Given the description of an element on the screen output the (x, y) to click on. 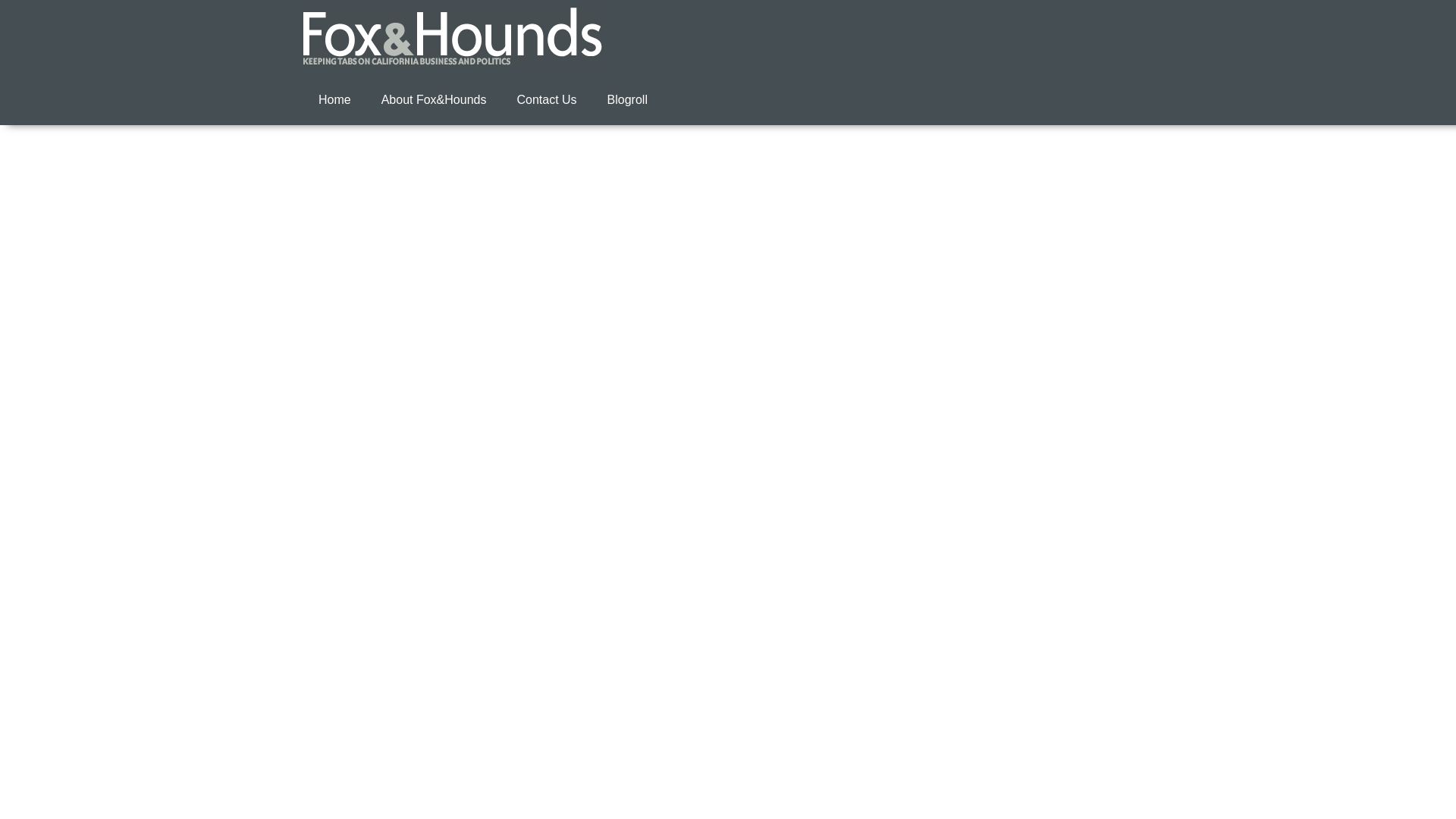
Blogroll (627, 99)
Home (334, 99)
Contact Us (545, 99)
